Given the description of an element on the screen output the (x, y) to click on. 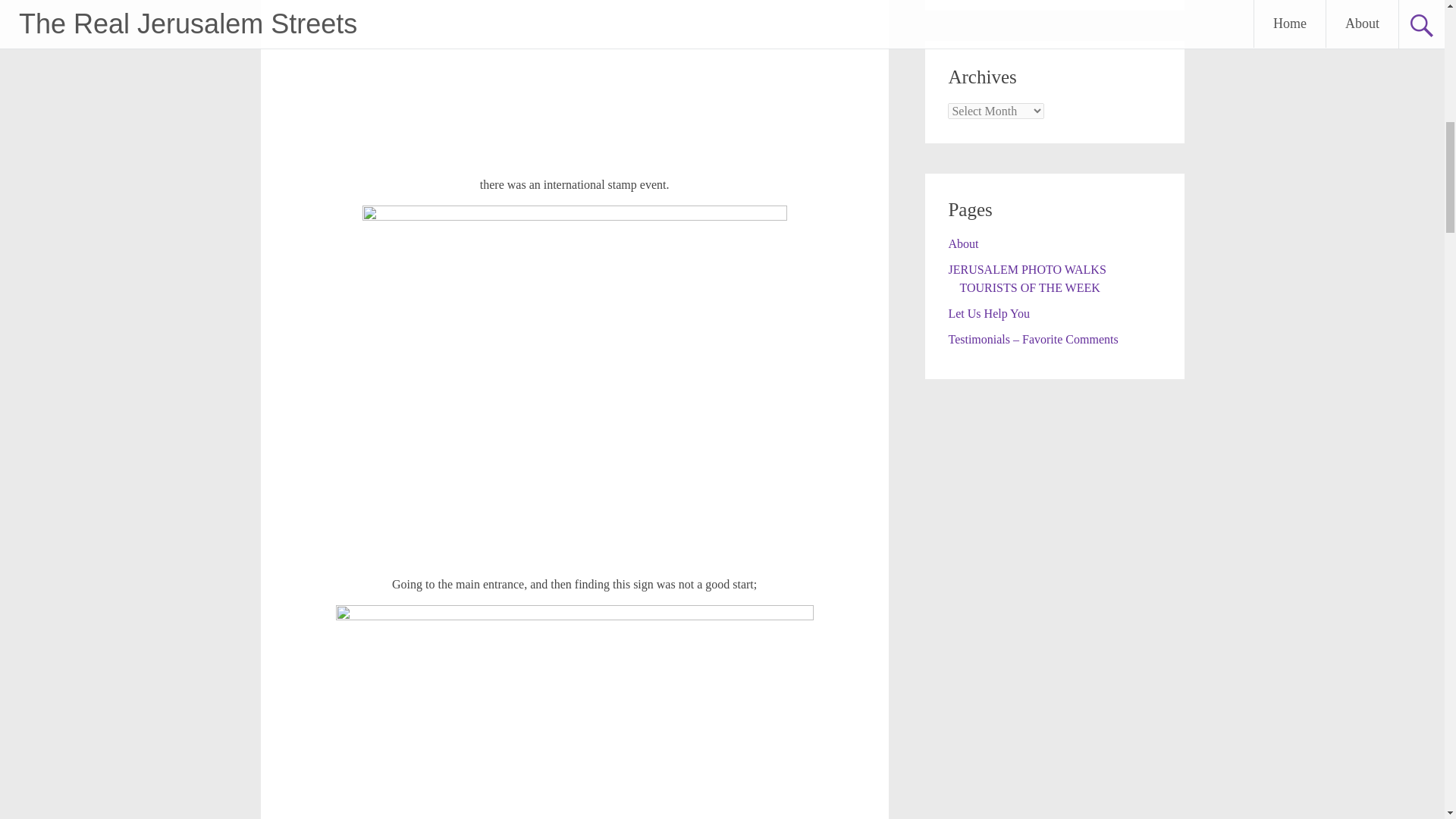
DSC03419 (574, 712)
DSC03288 (574, 82)
